Given the description of an element on the screen output the (x, y) to click on. 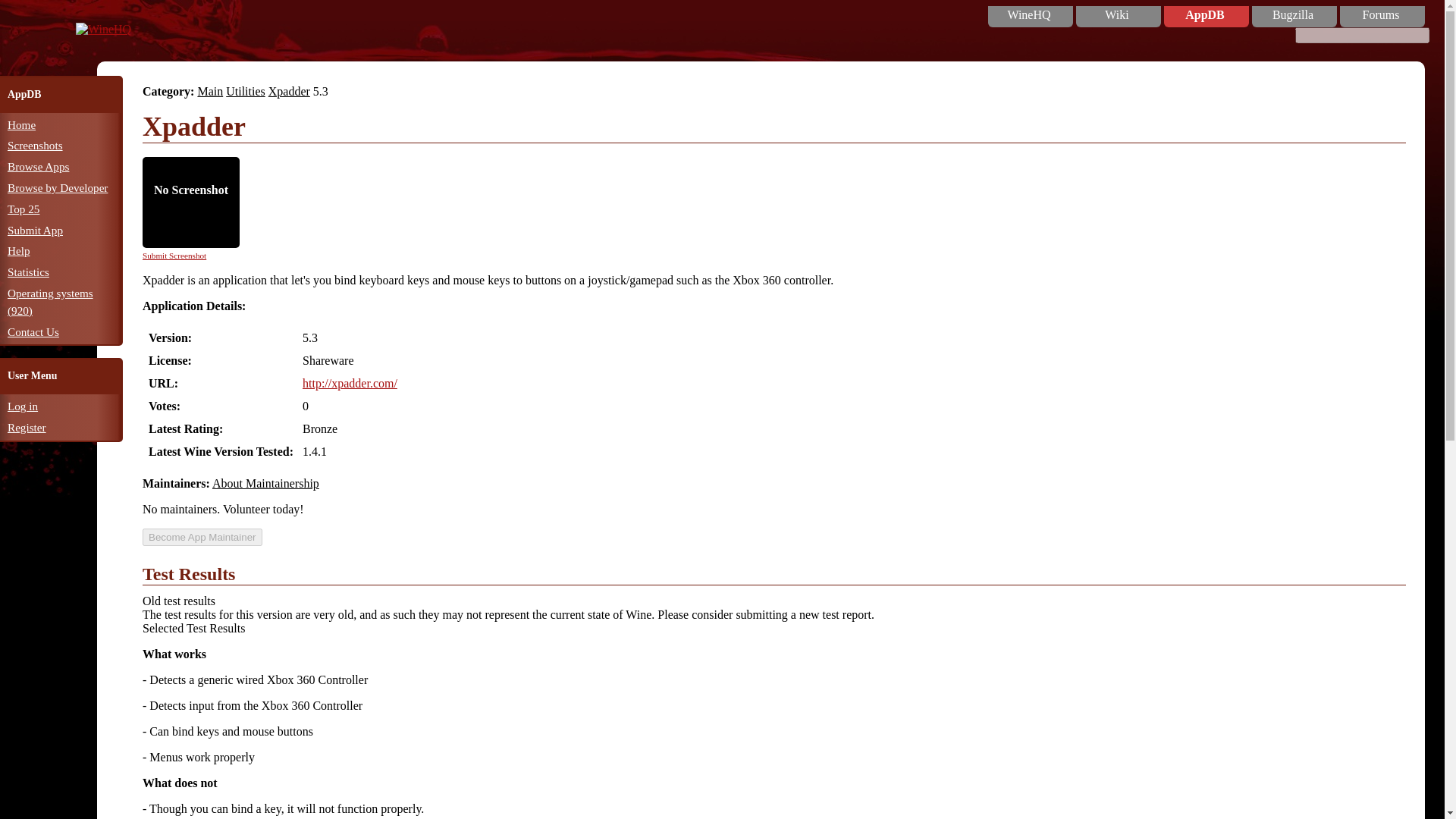
Contact Us (33, 331)
Browse by Developer (57, 187)
WineHQ (103, 29)
Become App Maintainer (202, 537)
Become App Maintainer (202, 537)
Submit Screenshot (174, 255)
Xpadder (288, 91)
WineHQ (1029, 15)
AppDB (1204, 15)
About Maintainership (265, 483)
Wiki (1116, 15)
Bugzilla (1292, 15)
Screenshots (34, 144)
Help (18, 250)
Submit App (34, 229)
